Given the description of an element on the screen output the (x, y) to click on. 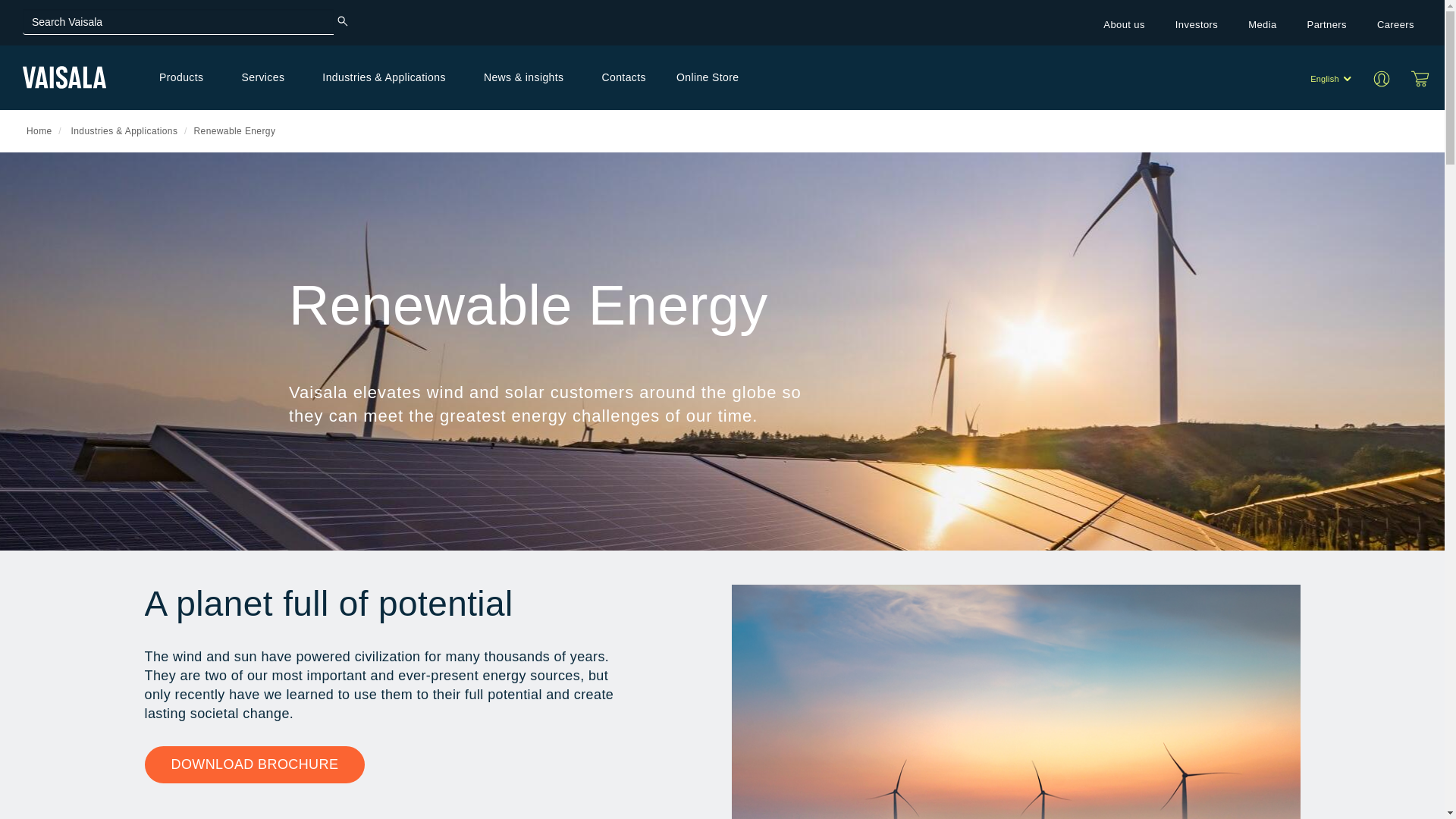
Home (64, 77)
Login to MyVaisala (1386, 77)
Online Store (1419, 78)
